Given the description of an element on the screen output the (x, y) to click on. 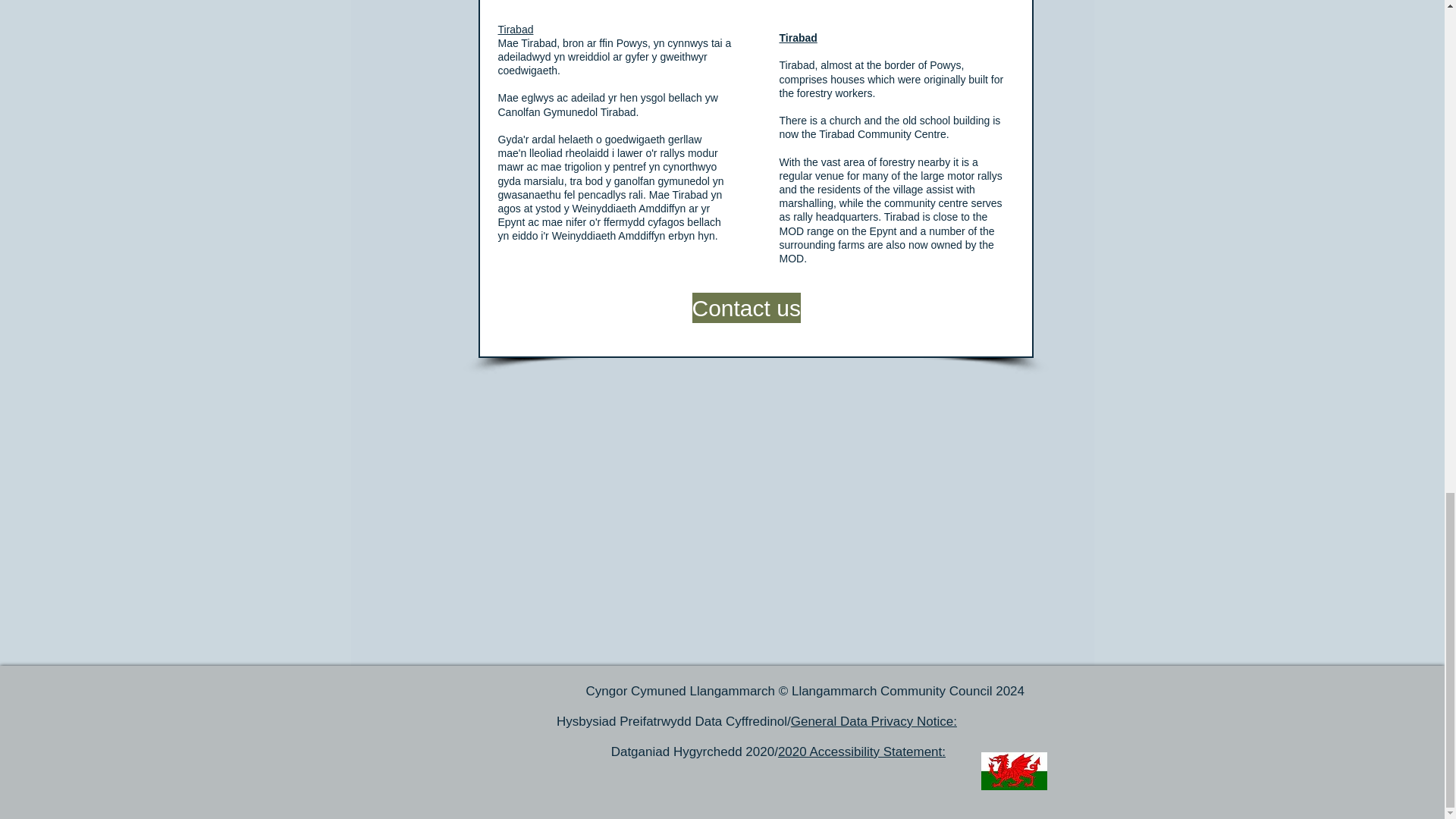
Contact us (745, 307)
General Data Privacy Notice: (873, 721)
2020 Accessibility Statement: (860, 751)
